Given the description of an element on the screen output the (x, y) to click on. 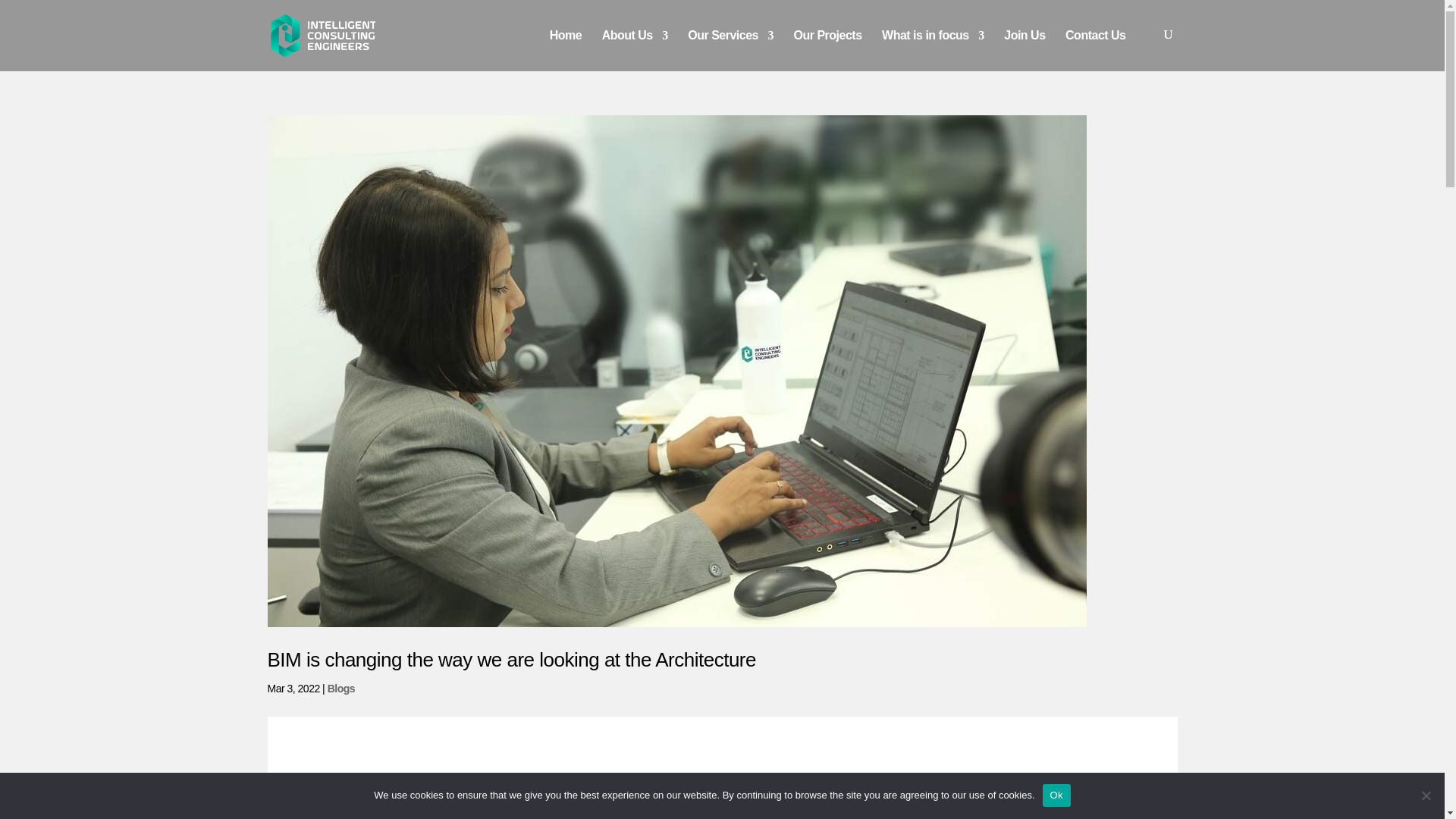
Our Projects (827, 50)
No (1425, 795)
Contact Us (1095, 50)
Our Services (730, 50)
About Us (635, 50)
What is in focus (933, 50)
Join Us (1024, 50)
